Given the description of an element on the screen output the (x, y) to click on. 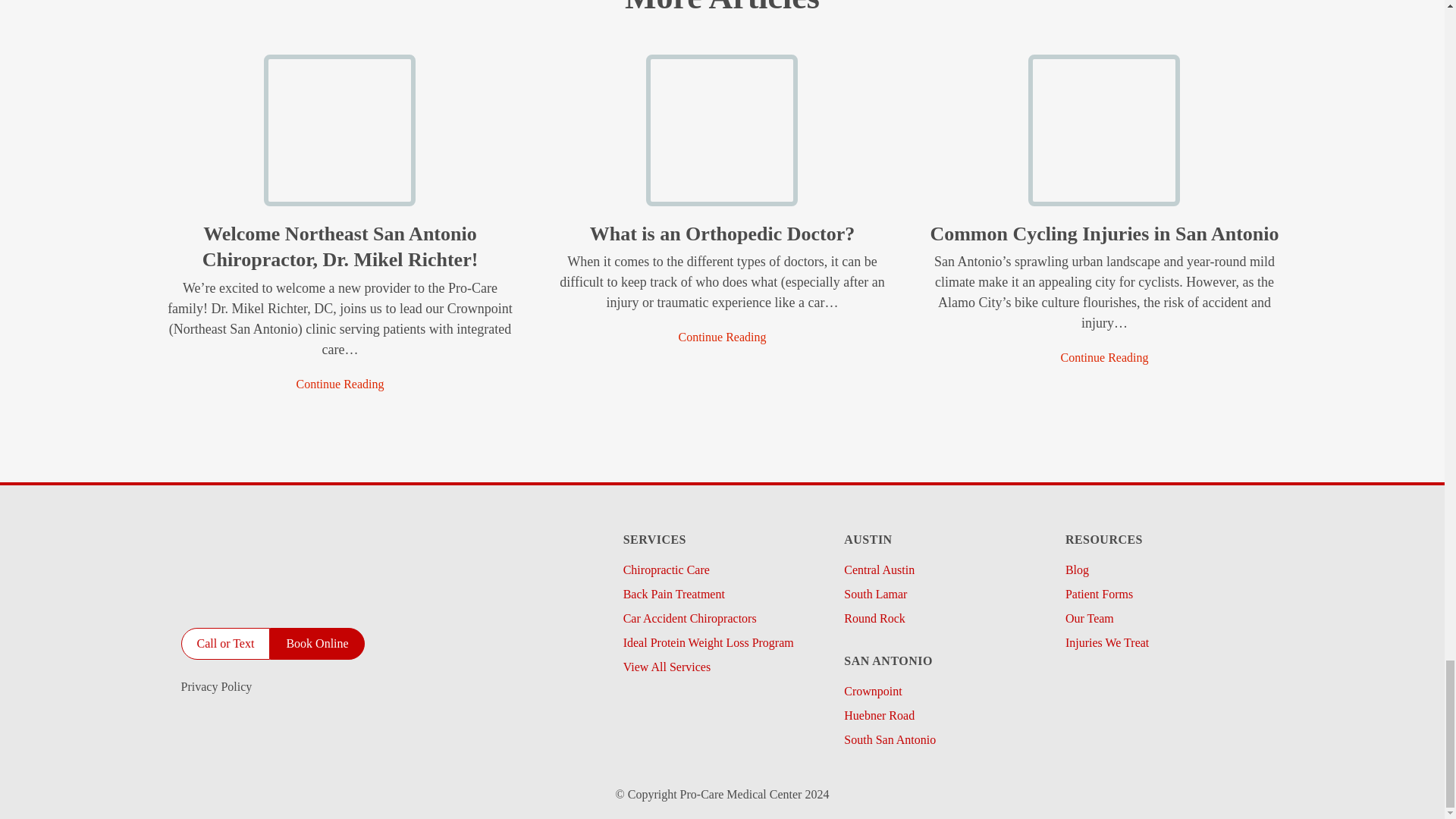
Common Cycling Injuries in San Antonio (1103, 357)
Common Cycling Injuries in San Antonio (1103, 195)
Continue Reading (339, 384)
What is an Orthopedic Doctor? (721, 195)
What is an Orthopedic Doctor? (721, 337)
Continue Reading (721, 337)
What is an Orthopedic Doctor? (722, 233)
